Given the description of an element on the screen output the (x, y) to click on. 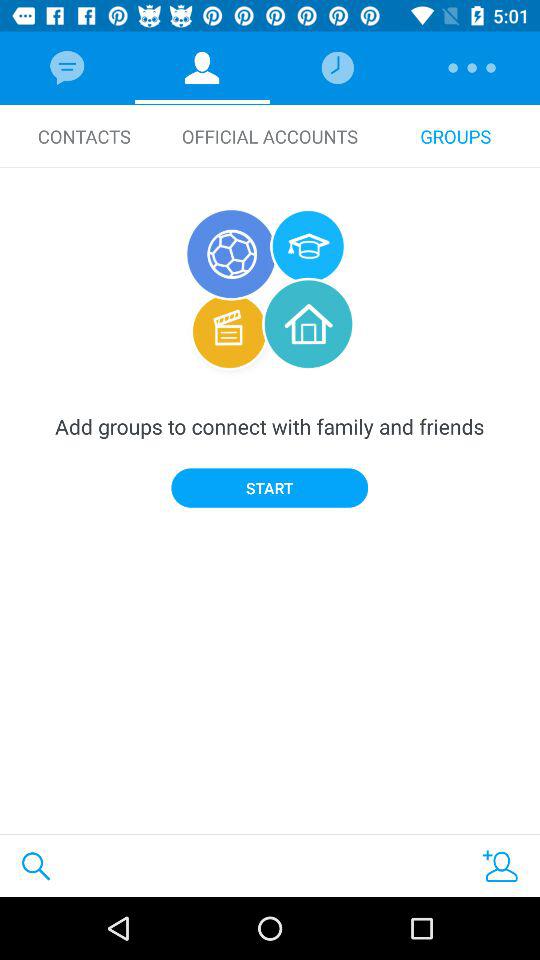
select item next to contacts item (269, 136)
